Given the description of an element on the screen output the (x, y) to click on. 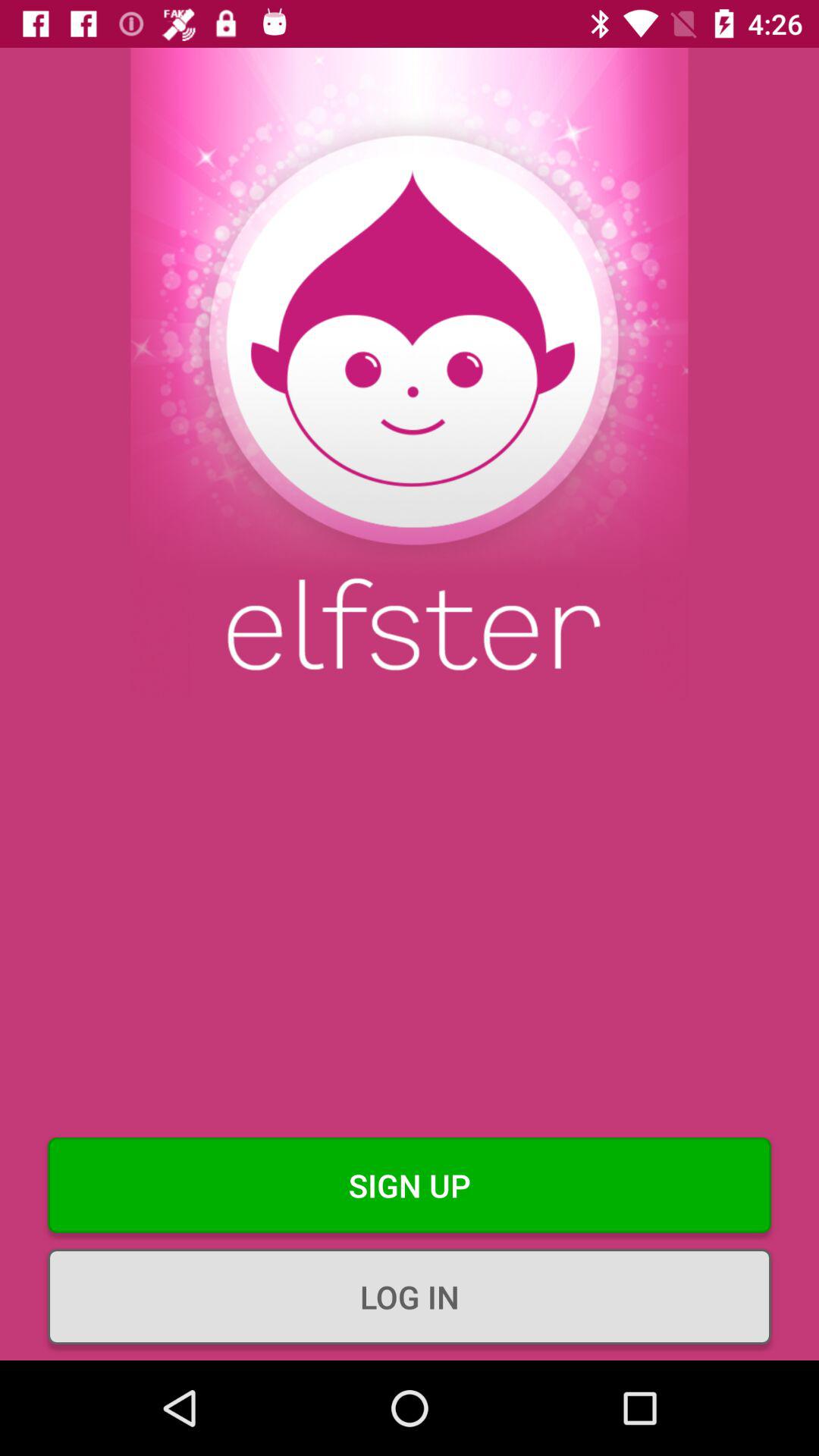
press sign up item (409, 1185)
